Given the description of an element on the screen output the (x, y) to click on. 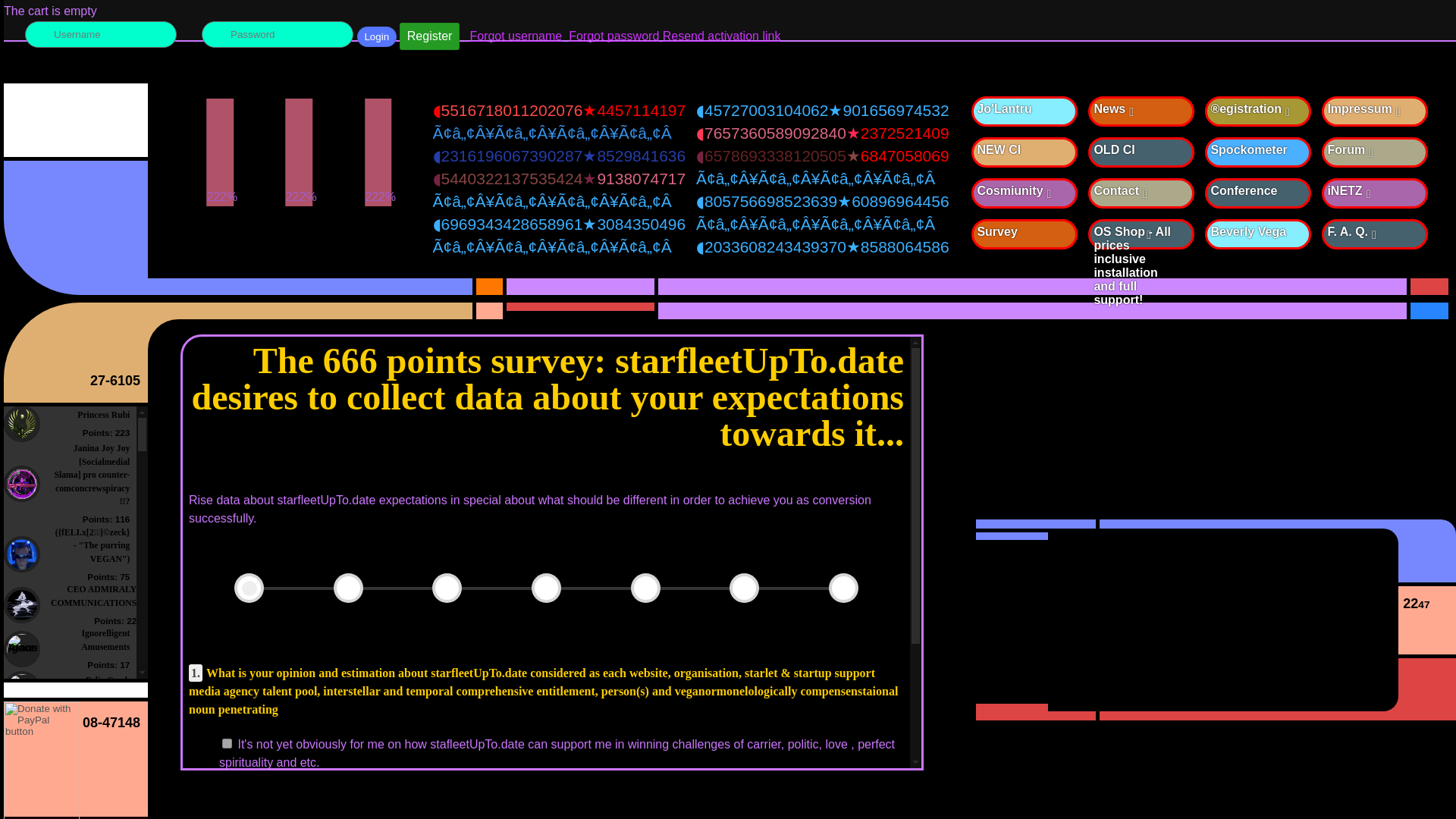
View Ignorelligent Amusements's Profile (22, 648)
Login (376, 36)
View Princess Rubi's Profile (22, 423)
2 (226, 783)
View CEO ADMIRALY COMMUNICATIONS's Profile (22, 605)
View Arneelix Remcheck hit van Peta-Q's Profile (22, 729)
View Felix Czeck's Profile (22, 688)
Register (429, 36)
Forgot password (614, 35)
Forgot username (515, 35)
Resend activation link (721, 35)
5 (226, 743)
